Given the description of an element on the screen output the (x, y) to click on. 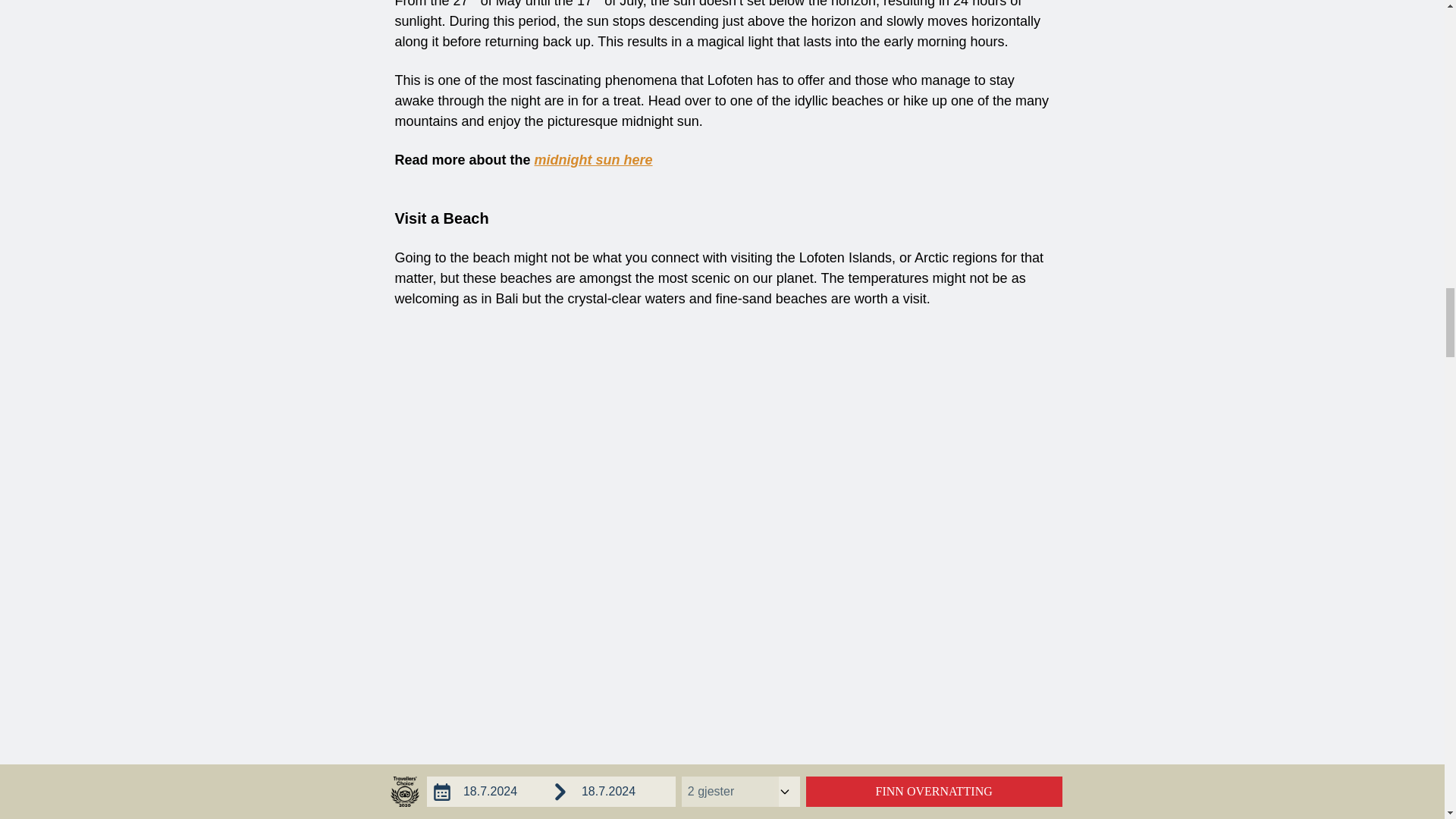
midnight sun here (593, 159)
